Given the description of an element on the screen output the (x, y) to click on. 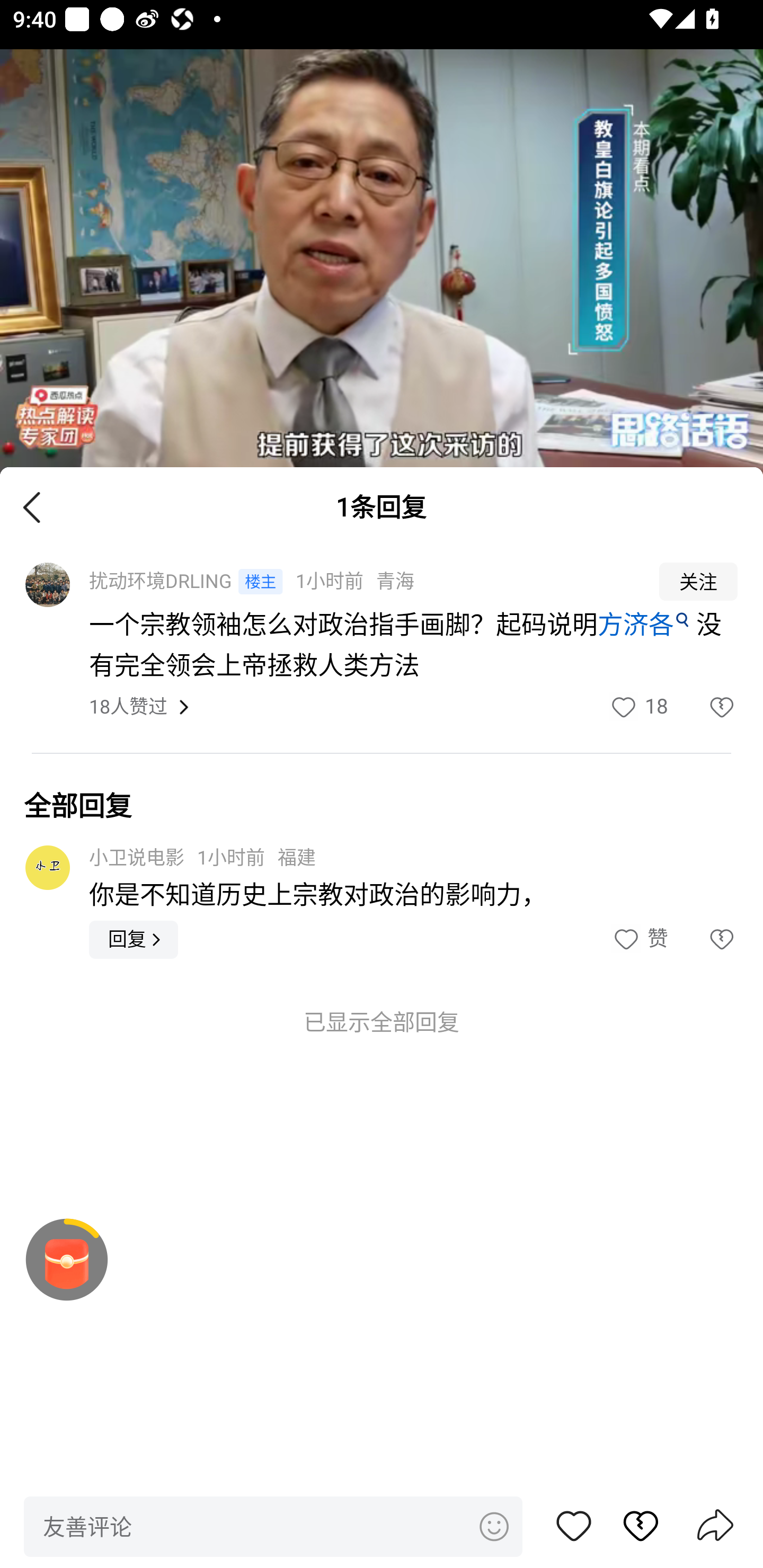
关闭 (31, 506)
关注 (698, 581)
扰动环境DRLING 1小时前 青海 (362, 581)
18人赞过 (128, 707)
赞18 赞 (637, 706)
踩 (702, 706)
小卫说电影 1小时前 福建 (202, 857)
回复 (133, 939)
赞 (638, 938)
踩 (702, 938)
阅读赚金币 (66, 1259)
分享 (715, 1526)
友善评论 表情 (272, 1526)
赞 (574, 1526)
踩 (630, 1526)
表情 (493, 1526)
